Given the description of an element on the screen output the (x, y) to click on. 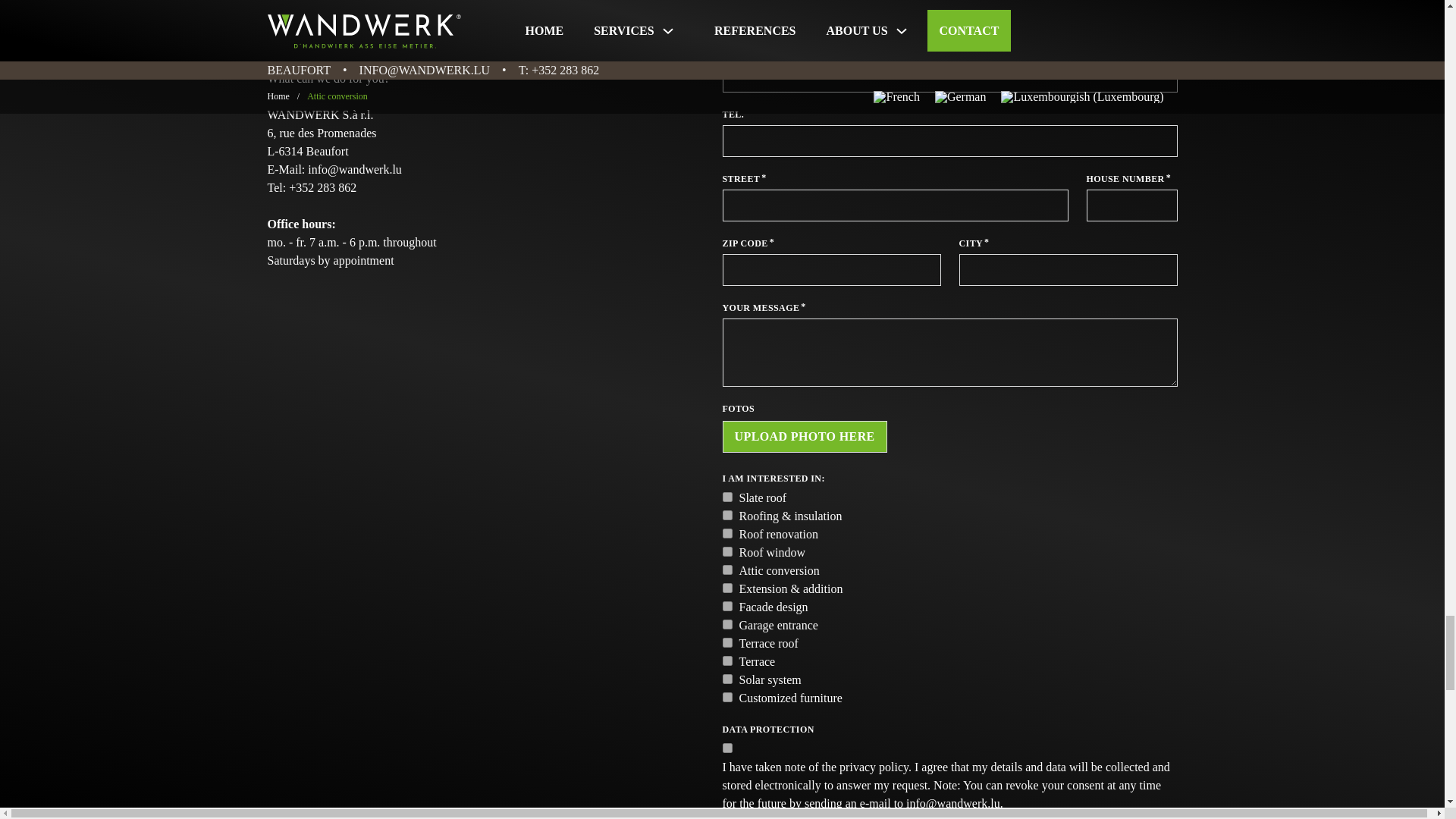
Roof renovation (727, 533)
Customized furniture (727, 696)
Terrace (727, 660)
Facade design (727, 605)
Slate roof (727, 497)
Solar system (727, 678)
Attic conversion (727, 569)
Roof window (727, 551)
Terrace roof (727, 642)
Garage entrance (727, 624)
